Given the description of an element on the screen output the (x, y) to click on. 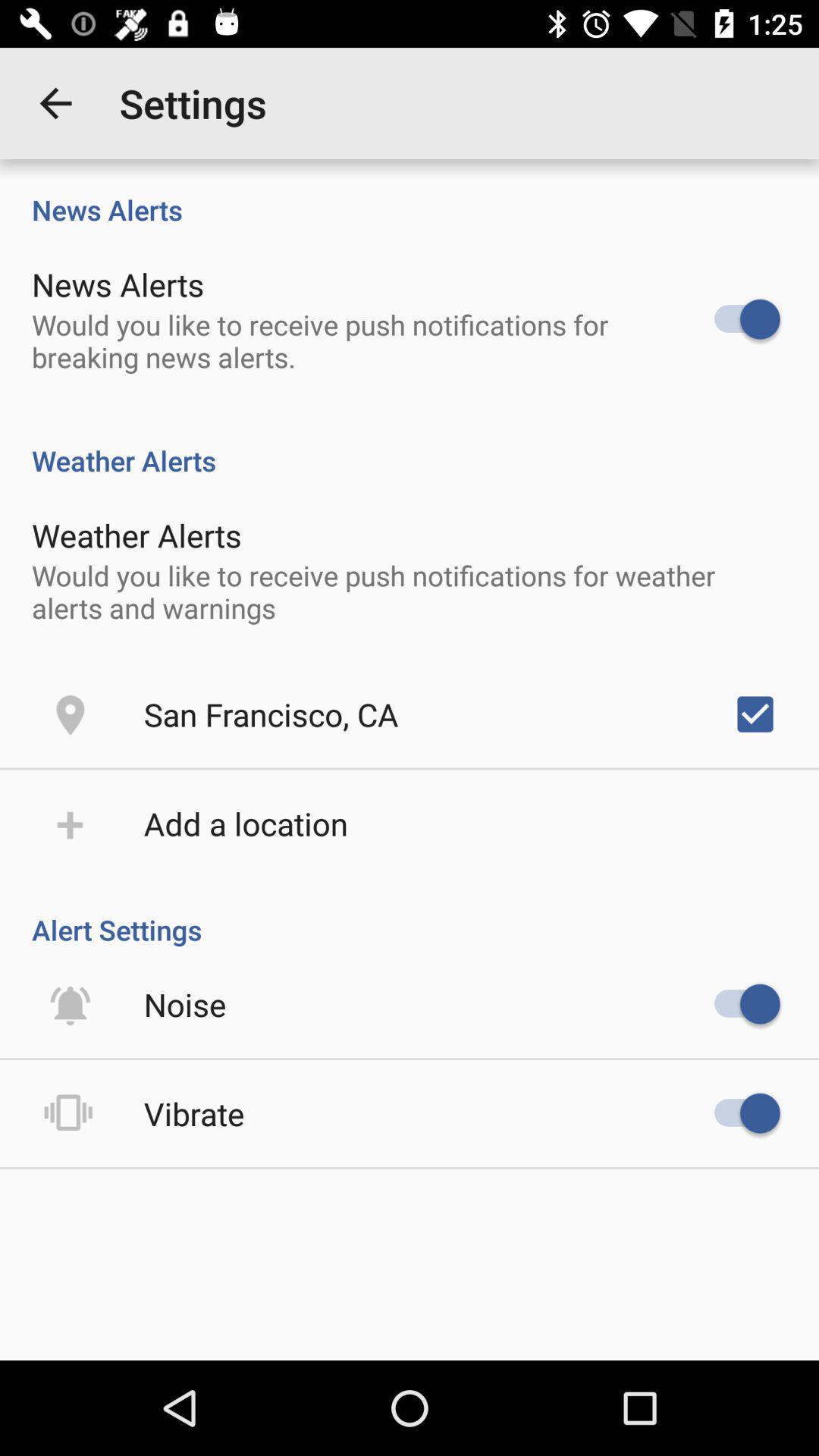
launch icon next to settings  app (55, 103)
